Given the description of an element on the screen output the (x, y) to click on. 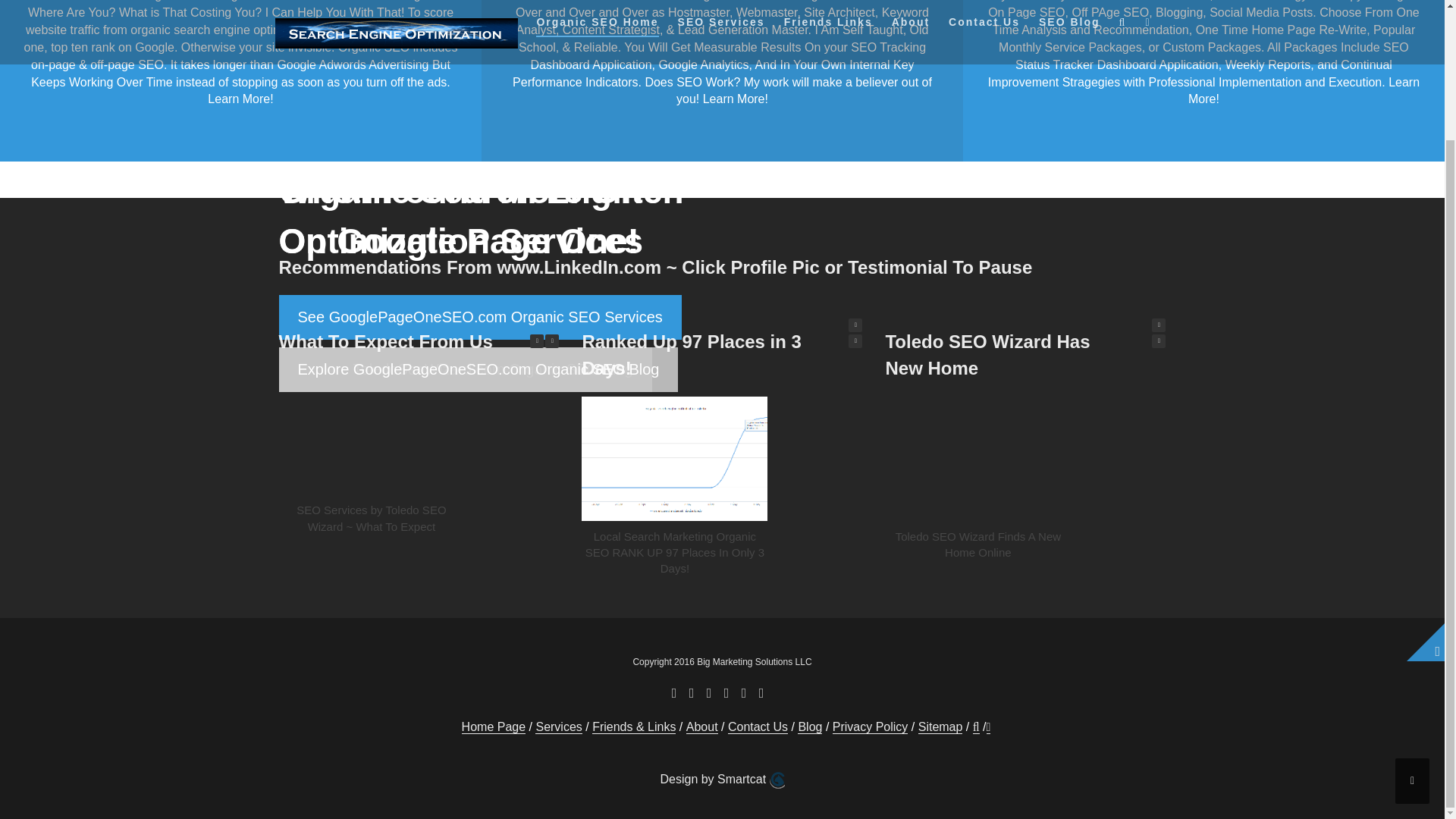
Previous (854, 341)
Contact Us (757, 726)
Next (1158, 325)
Home Page (493, 726)
Previous (1158, 341)
Next (854, 325)
Explore GooglePageOneSEO.com Organic SEO Blog (478, 369)
Next (551, 341)
Services (557, 726)
About (701, 726)
Explore ToledoSeoWizard.com Organic SEO Blog (465, 369)
Previous (536, 341)
See GooglePageOneSEO.com Organic SEO Services (480, 316)
Toledo SEO Wizard Finds A New Home Online (978, 543)
